Given the description of an element on the screen output the (x, y) to click on. 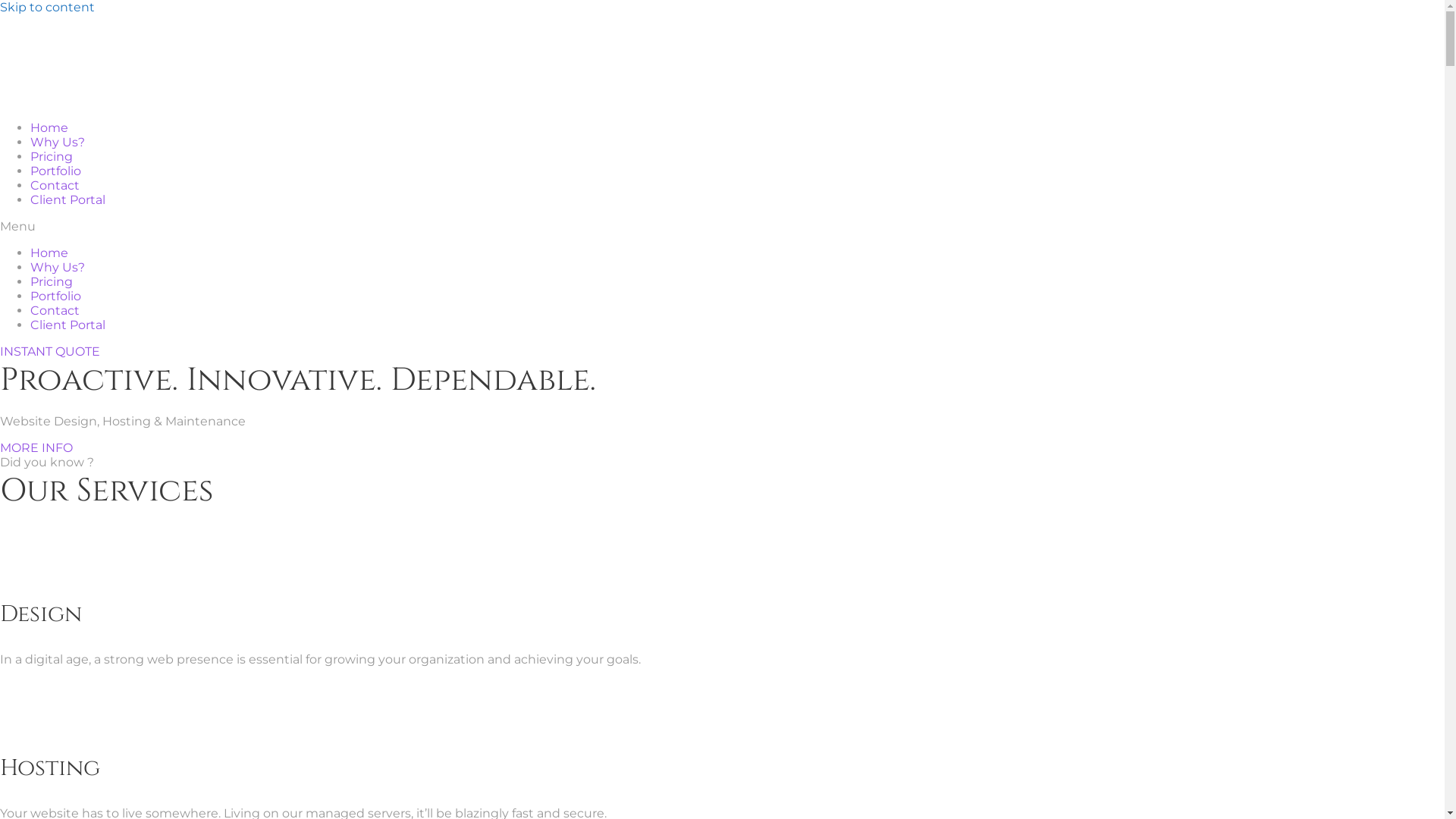
Contact Element type: text (54, 185)
INSTANT QUOTE Element type: text (50, 351)
Home Element type: text (49, 252)
Skip to content Element type: text (47, 7)
Contact Element type: text (54, 310)
Portfolio Element type: text (55, 170)
Client Portal Element type: text (67, 324)
Home Element type: text (49, 127)
Pricing Element type: text (51, 156)
Client Portal Element type: text (67, 199)
Portfolio Element type: text (55, 295)
MORE INFO Element type: text (36, 447)
Why Us? Element type: text (57, 267)
Pricing Element type: text (51, 281)
Why Us? Element type: text (57, 141)
